Given the description of an element on the screen output the (x, y) to click on. 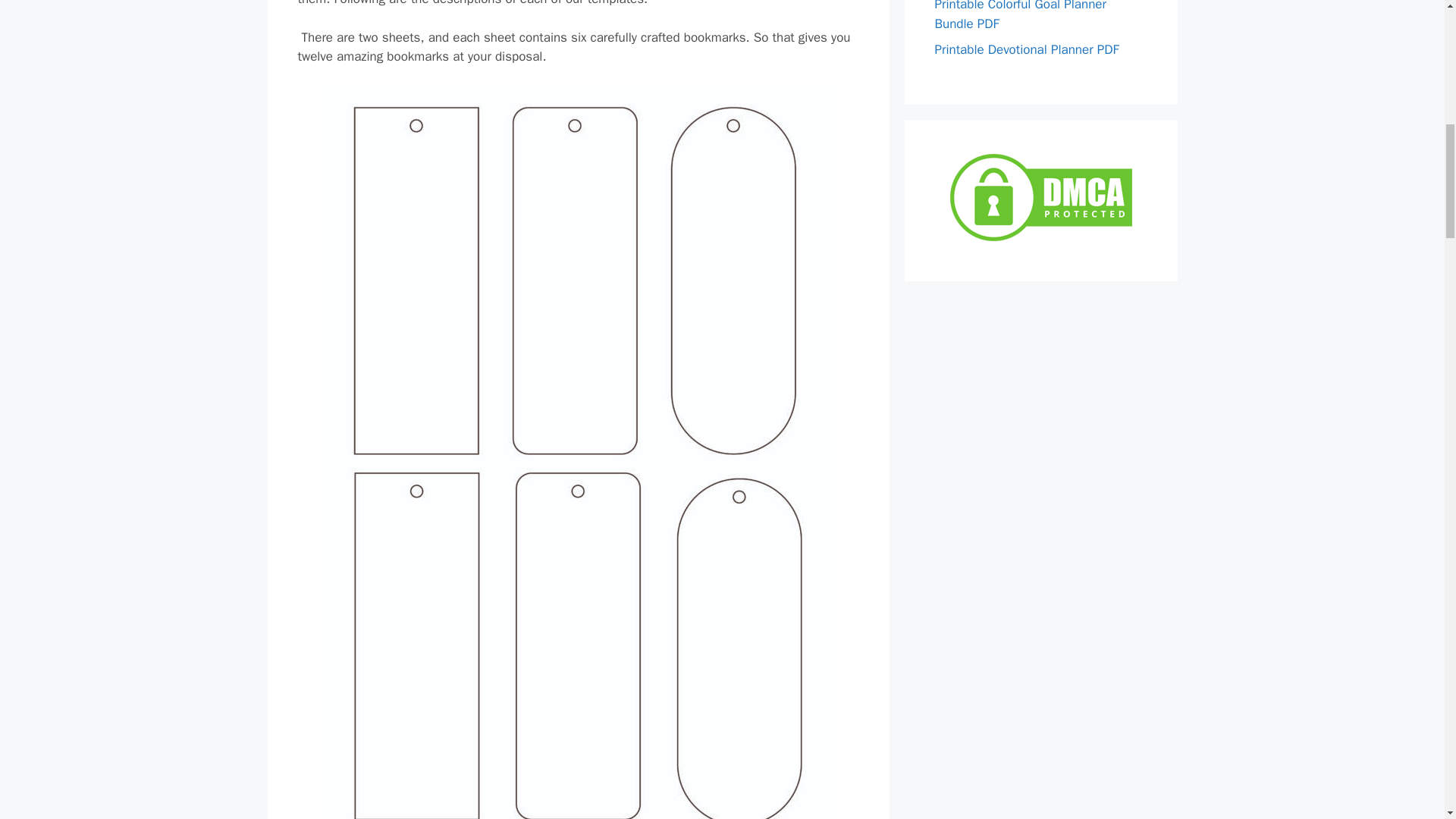
Printable Colorful Goal Planner Bundle PDF (1019, 15)
Printable Devotional Planner PDF (1026, 48)
DMCA.com Protection Status (1040, 240)
